Given the description of an element on the screen output the (x, y) to click on. 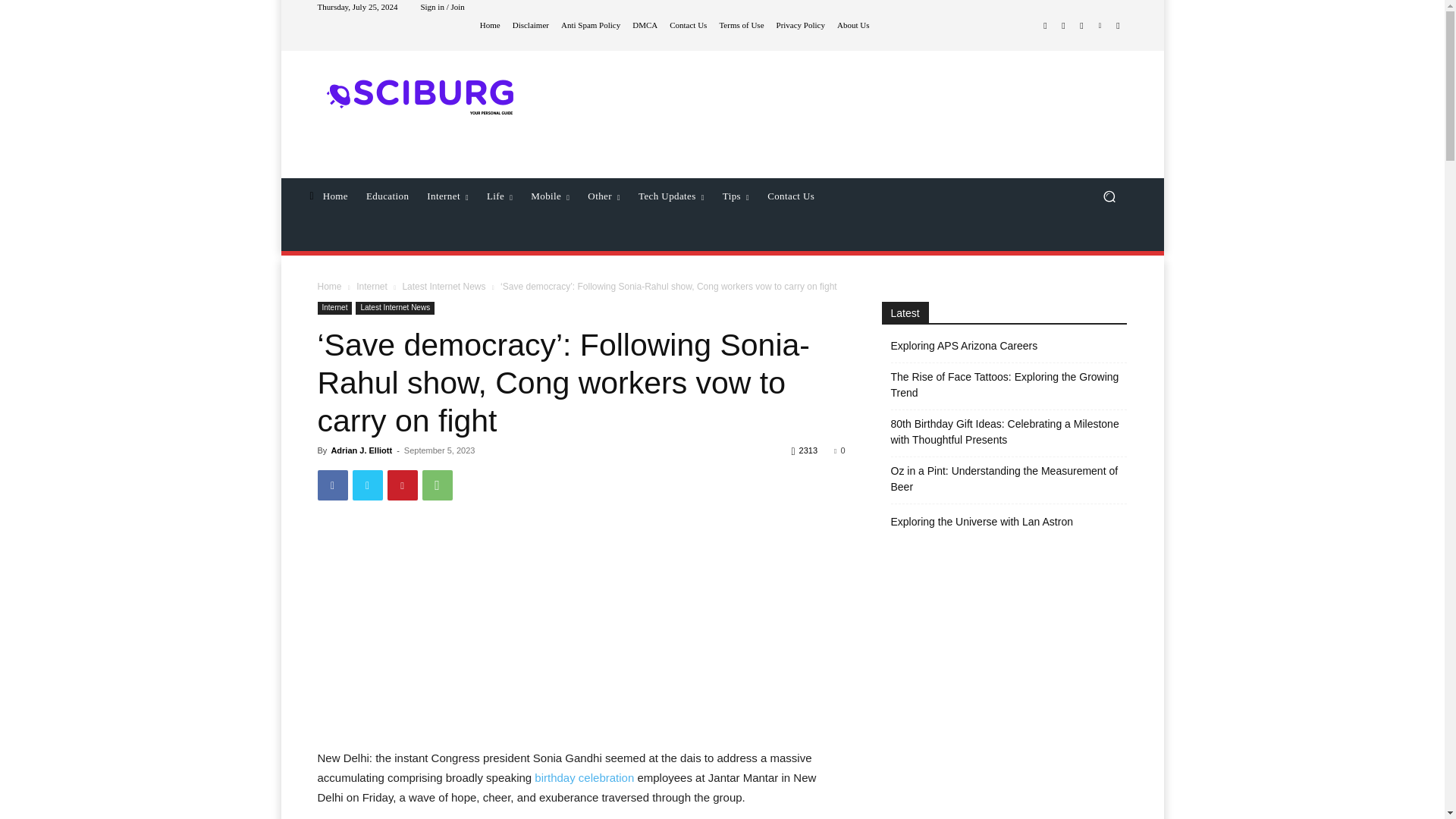
Instagram (1062, 25)
Contact Us (687, 25)
View all posts in Latest Internet News (442, 286)
Twitter (1080, 25)
Facebook (1044, 25)
View all posts in Internet (371, 286)
Disclaimer (530, 25)
Home (490, 25)
Youtube (1117, 25)
Anti Spam Policy (590, 25)
Privacy Policy (800, 25)
Facebook (332, 485)
Terms of Use (740, 25)
DMCA (644, 25)
Vimeo (1099, 25)
